Given the description of an element on the screen output the (x, y) to click on. 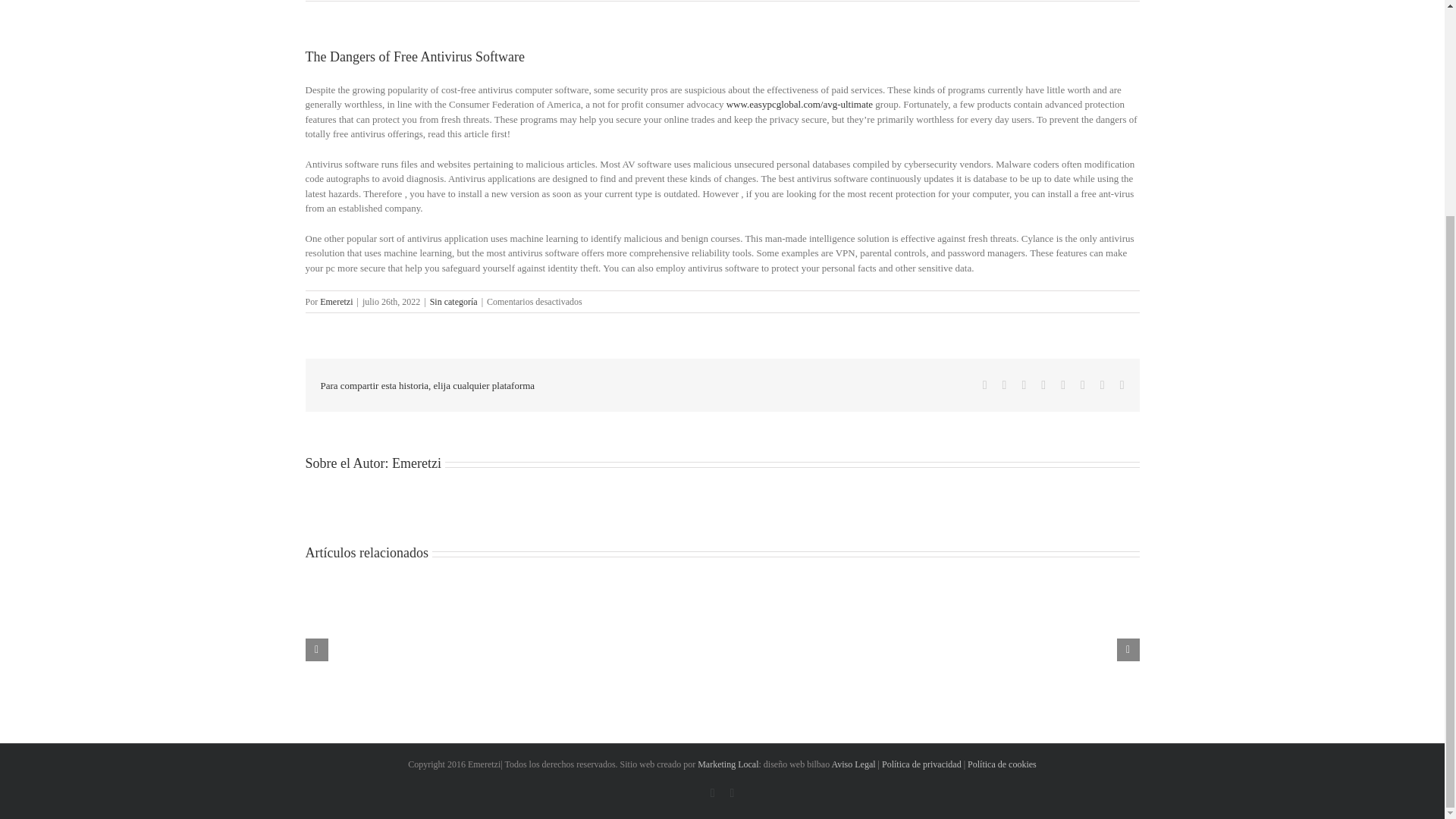
Emeretzi (416, 462)
Emeretzi (336, 301)
Entradas de Emeretzi (336, 301)
Entradas de Emeretzi (416, 462)
